Given the description of an element on the screen output the (x, y) to click on. 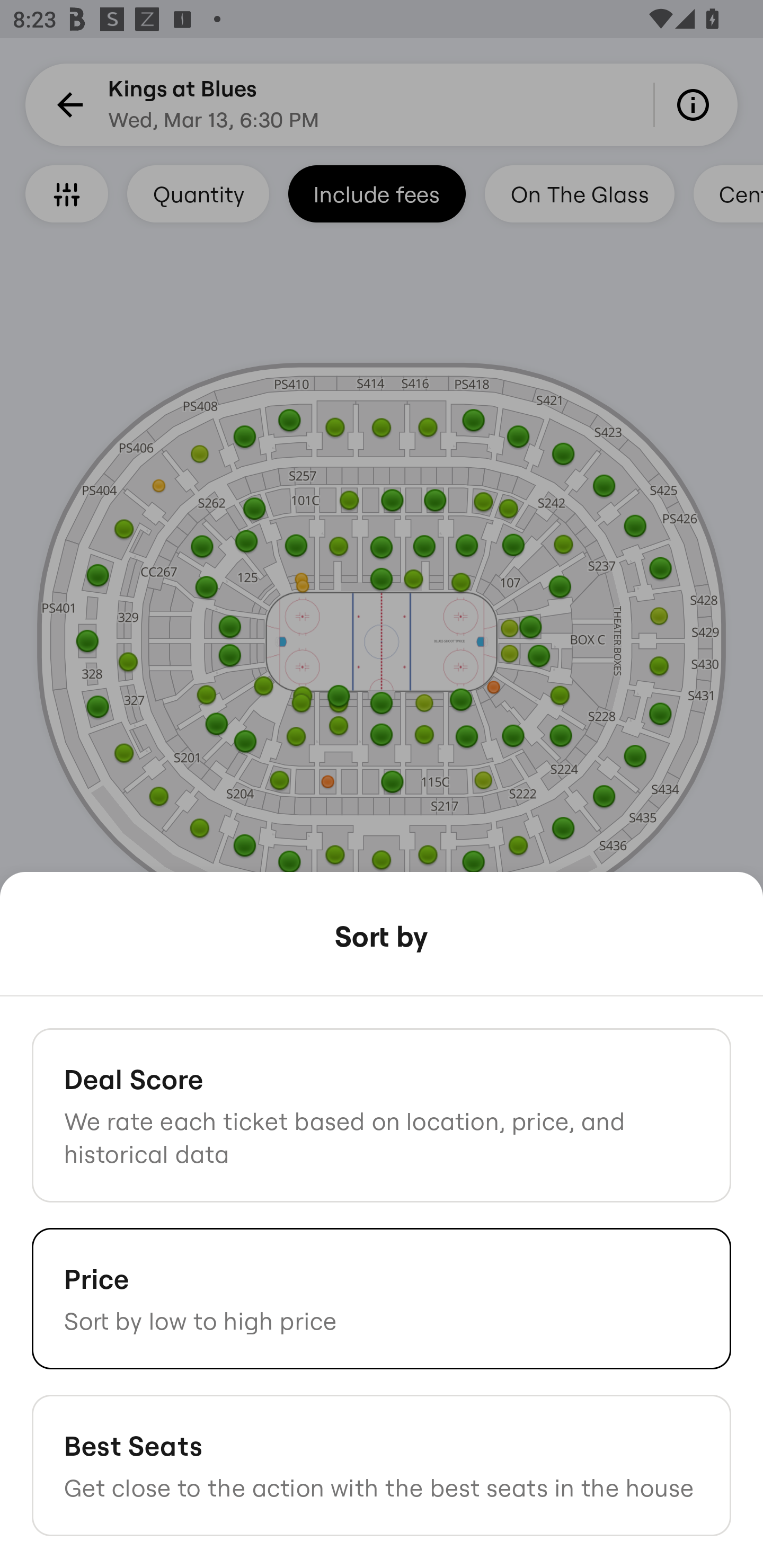
Price Sort by low to high price (381, 1297)
